Given the description of an element on the screen output the (x, y) to click on. 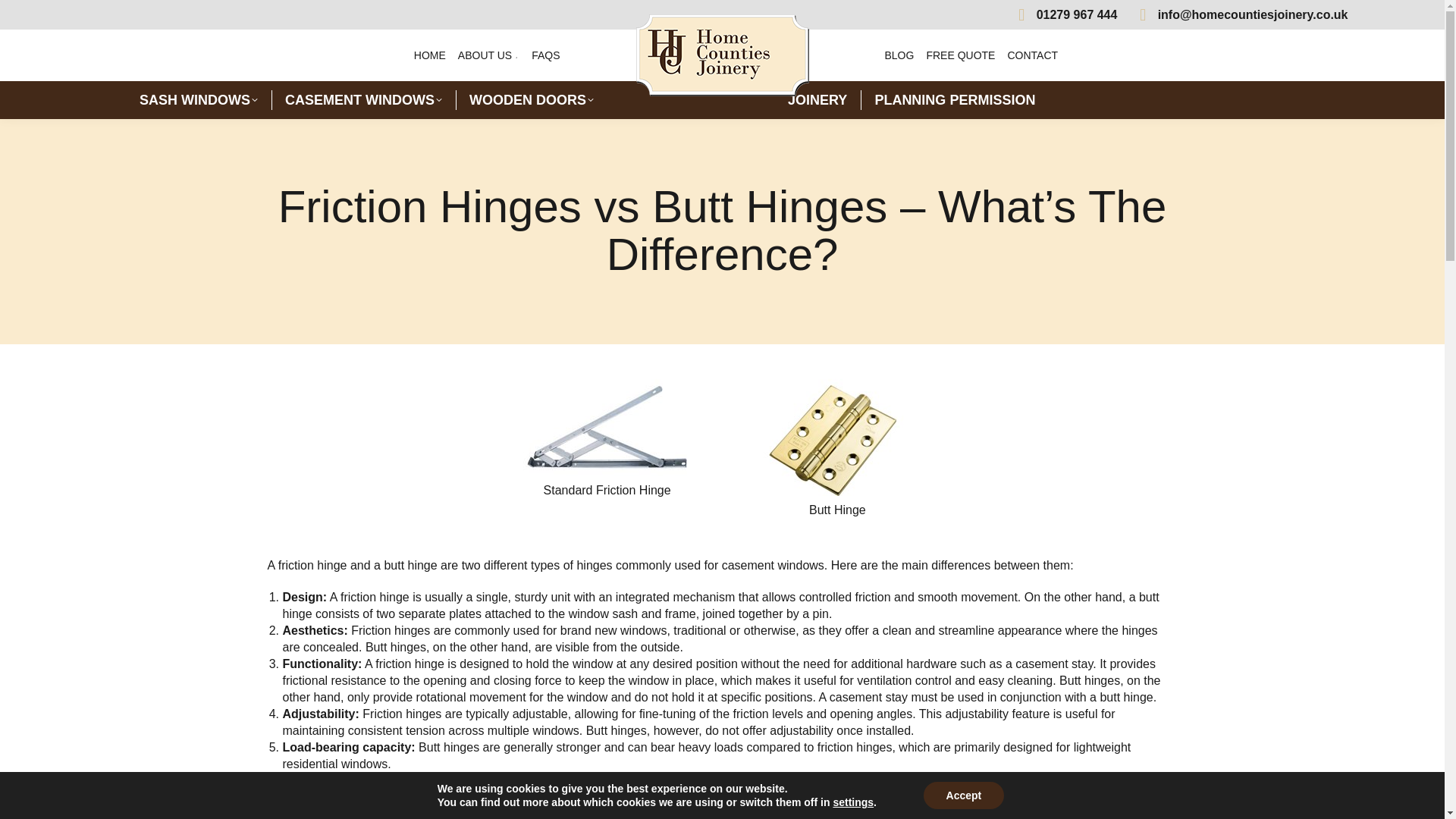
CASEMENT WINDOWS (363, 99)
01279 967 444 (1063, 13)
ABOUT US (488, 55)
CONTACT (1032, 55)
JOINERY (817, 99)
HOME (429, 55)
BLOG (898, 55)
WOODEN DOORS (530, 99)
FREE QUOTE (960, 55)
SASH WINDOWS (198, 99)
PLANNING PERMISSION (954, 99)
FAQS (545, 55)
